Given the description of an element on the screen output the (x, y) to click on. 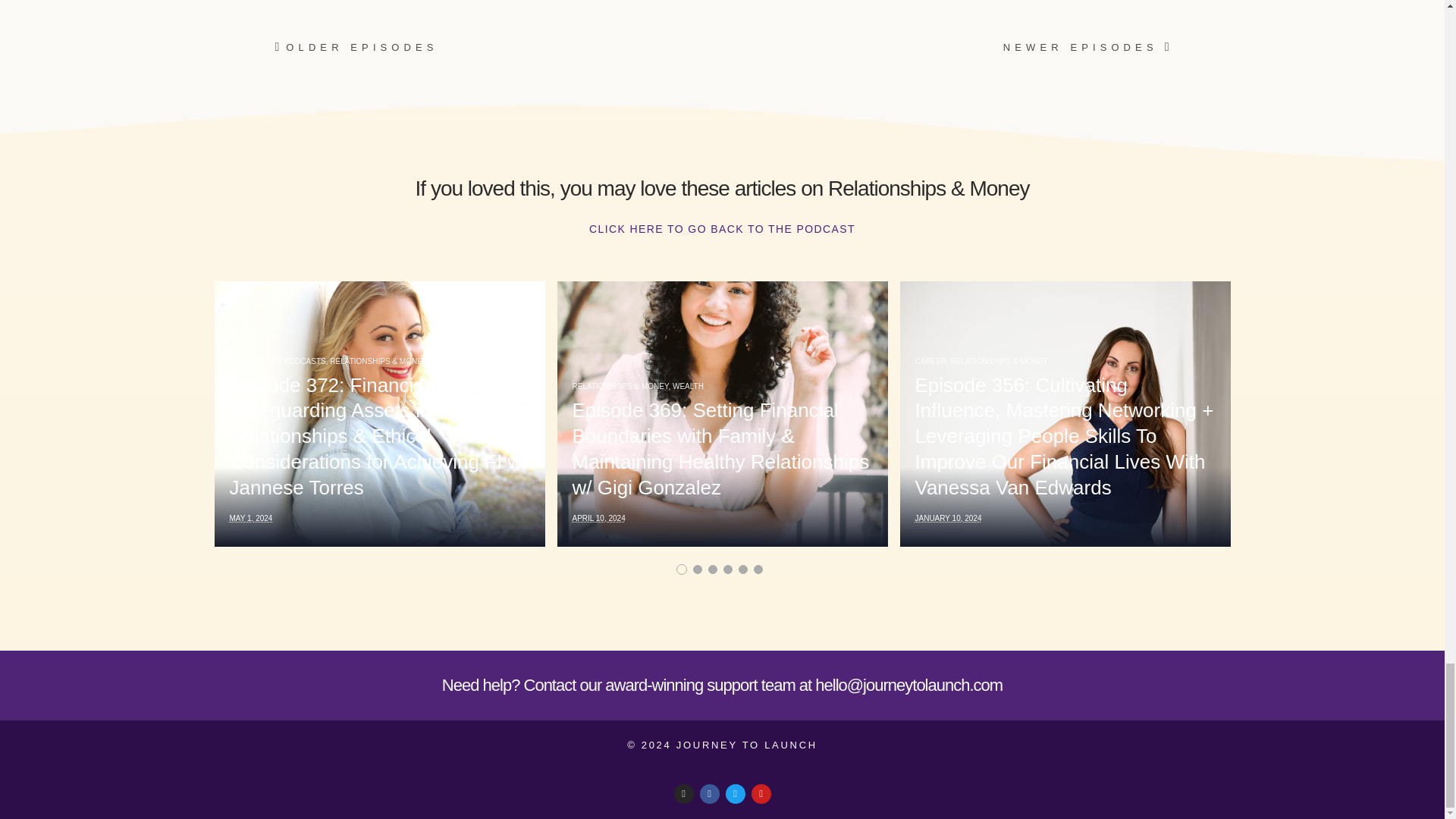
Wednesday, January, 2024, 5:00 am (947, 518)
Wednesday, April, 2024, 5:00 am (598, 518)
Wednesday, May, 2024, 5:00 am (250, 518)
